Given the description of an element on the screen output the (x, y) to click on. 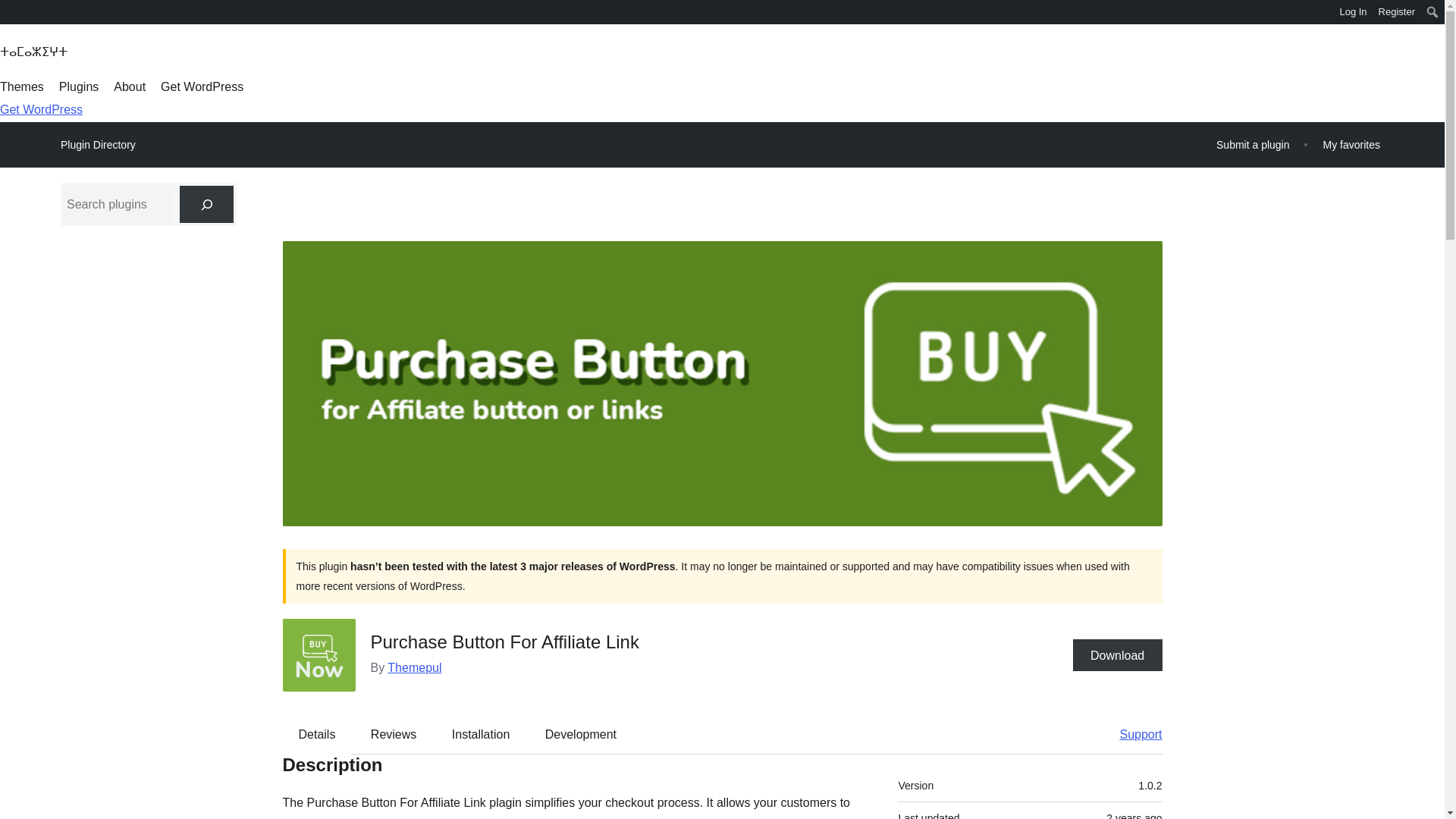
My favorites (1351, 144)
Installation (480, 733)
Get WordPress (41, 109)
WordPress.org (10, 16)
WordPress.org (10, 10)
Plugin Directory (97, 144)
Plugins (79, 87)
Support (1132, 733)
Themes (21, 87)
Development (580, 733)
Search (16, 13)
Get WordPress (201, 87)
Log In (1353, 12)
Reviews (392, 733)
Themepul (414, 667)
